Given the description of an element on the screen output the (x, y) to click on. 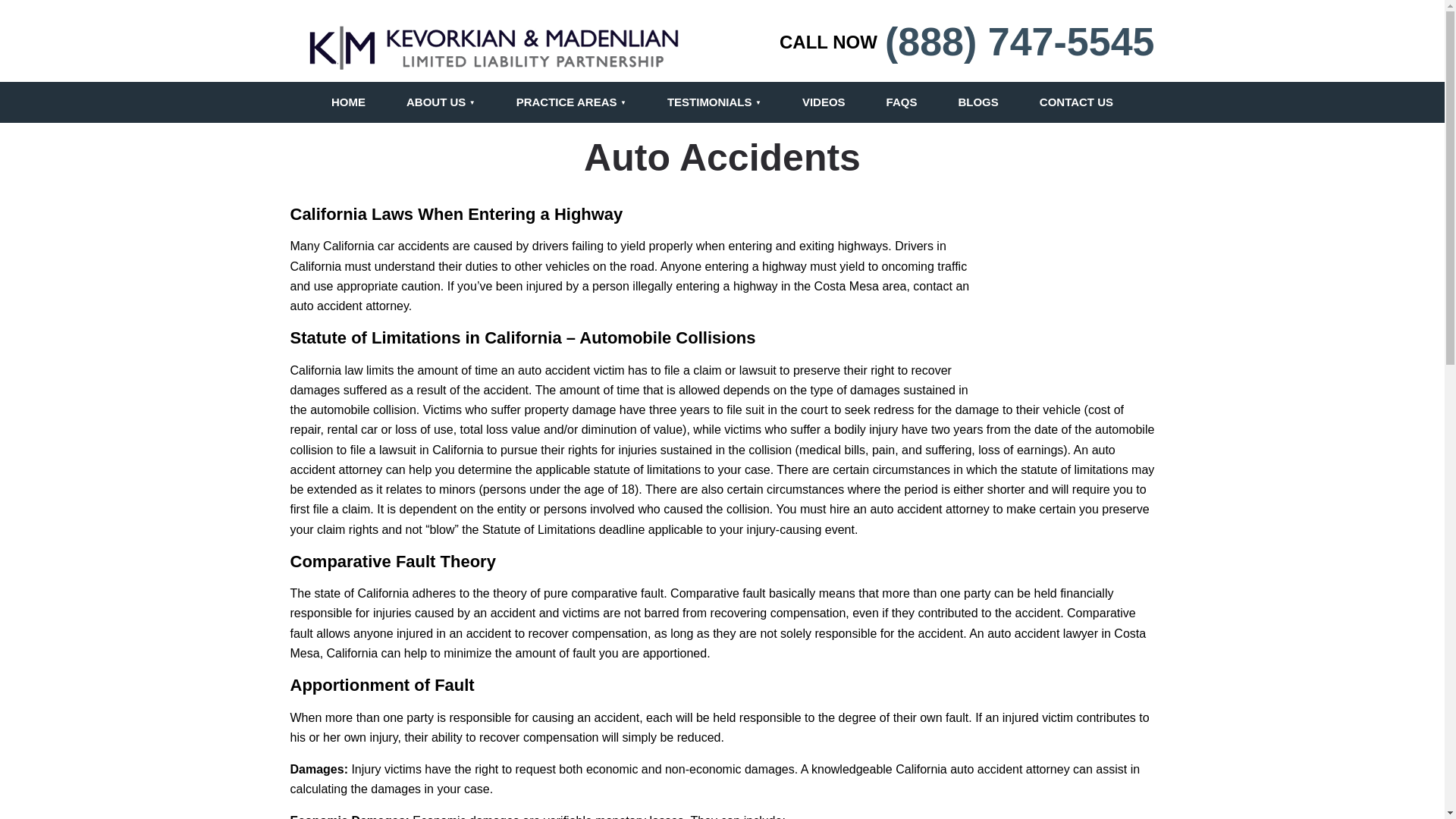
PRACTICE AREAS (571, 101)
VIDEOS (823, 101)
BLOGS (977, 101)
CONTACT US (1076, 101)
FAQS (901, 101)
HOME (348, 101)
TESTIMONIALS (713, 101)
ABOUT US (440, 101)
